Given the description of an element on the screen output the (x, y) to click on. 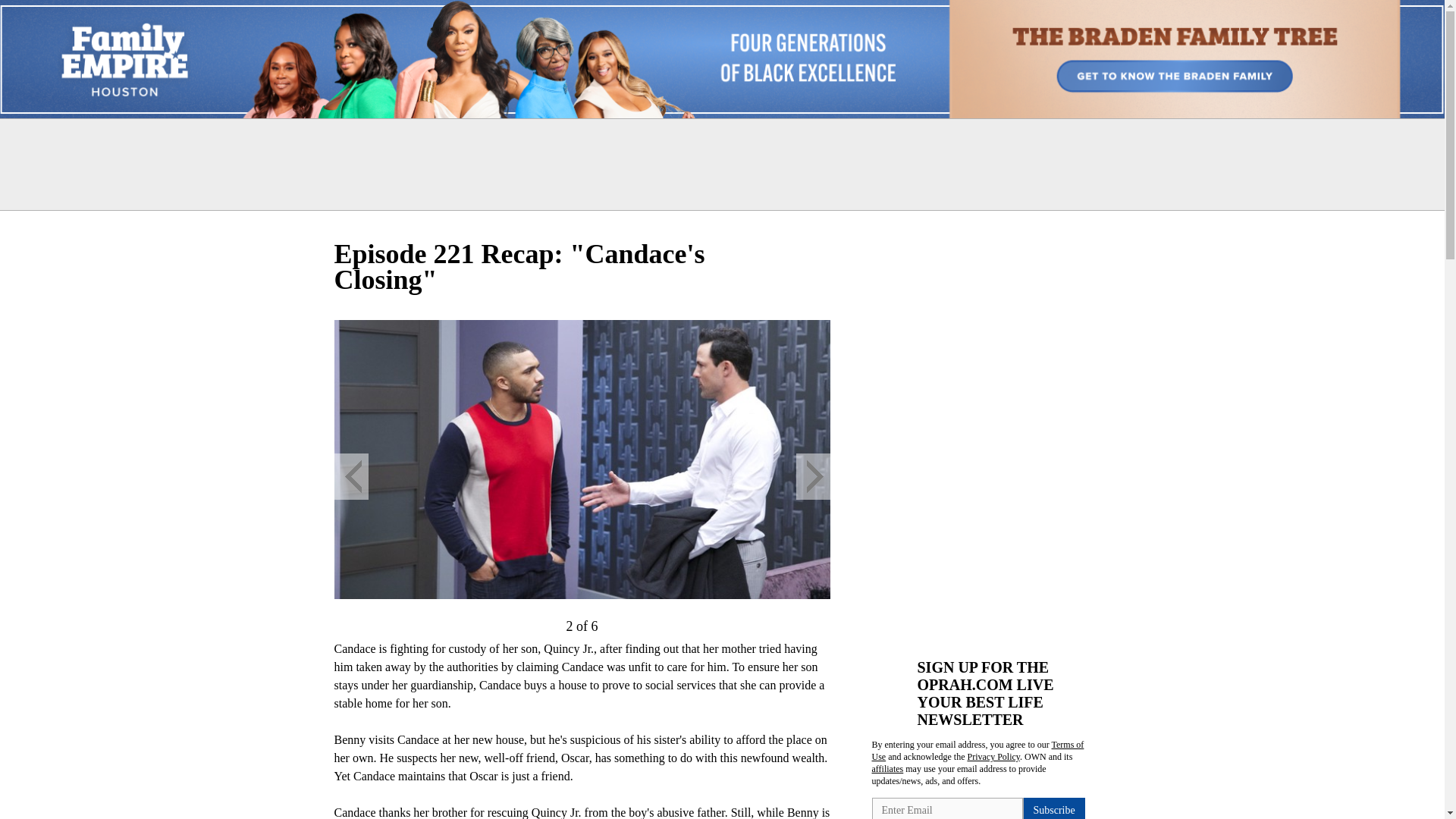
Privacy Policy (993, 756)
3rd party ad content (985, 541)
3rd party ad content (985, 337)
Terms of Use (978, 750)
3rd party ad content (721, 164)
affiliates (888, 768)
